Given the description of an element on the screen output the (x, y) to click on. 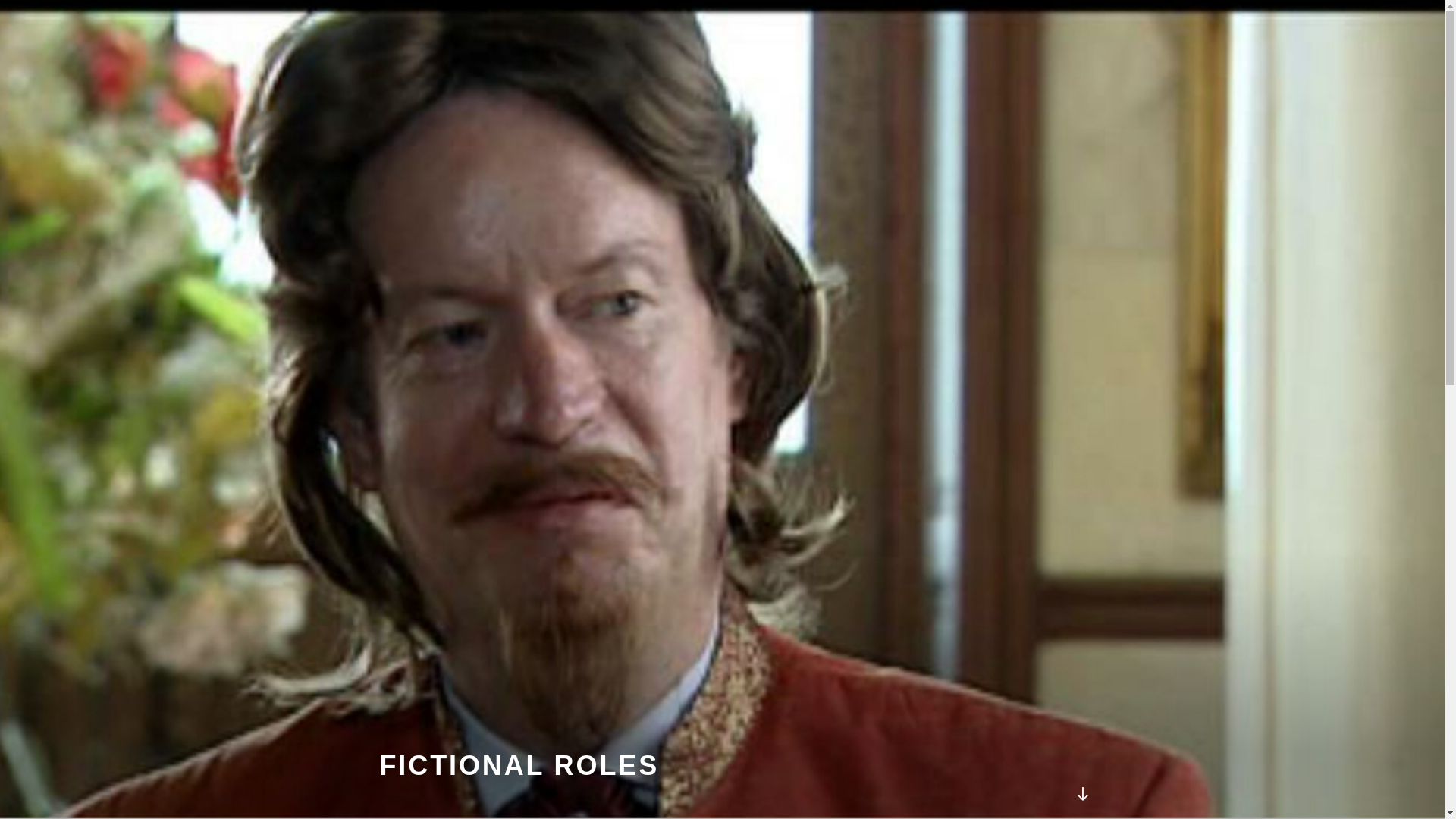
Scroll down to content (1081, 793)
FICTIONAL ROLES (518, 765)
Scroll down to content (1081, 793)
